Given the description of an element on the screen output the (x, y) to click on. 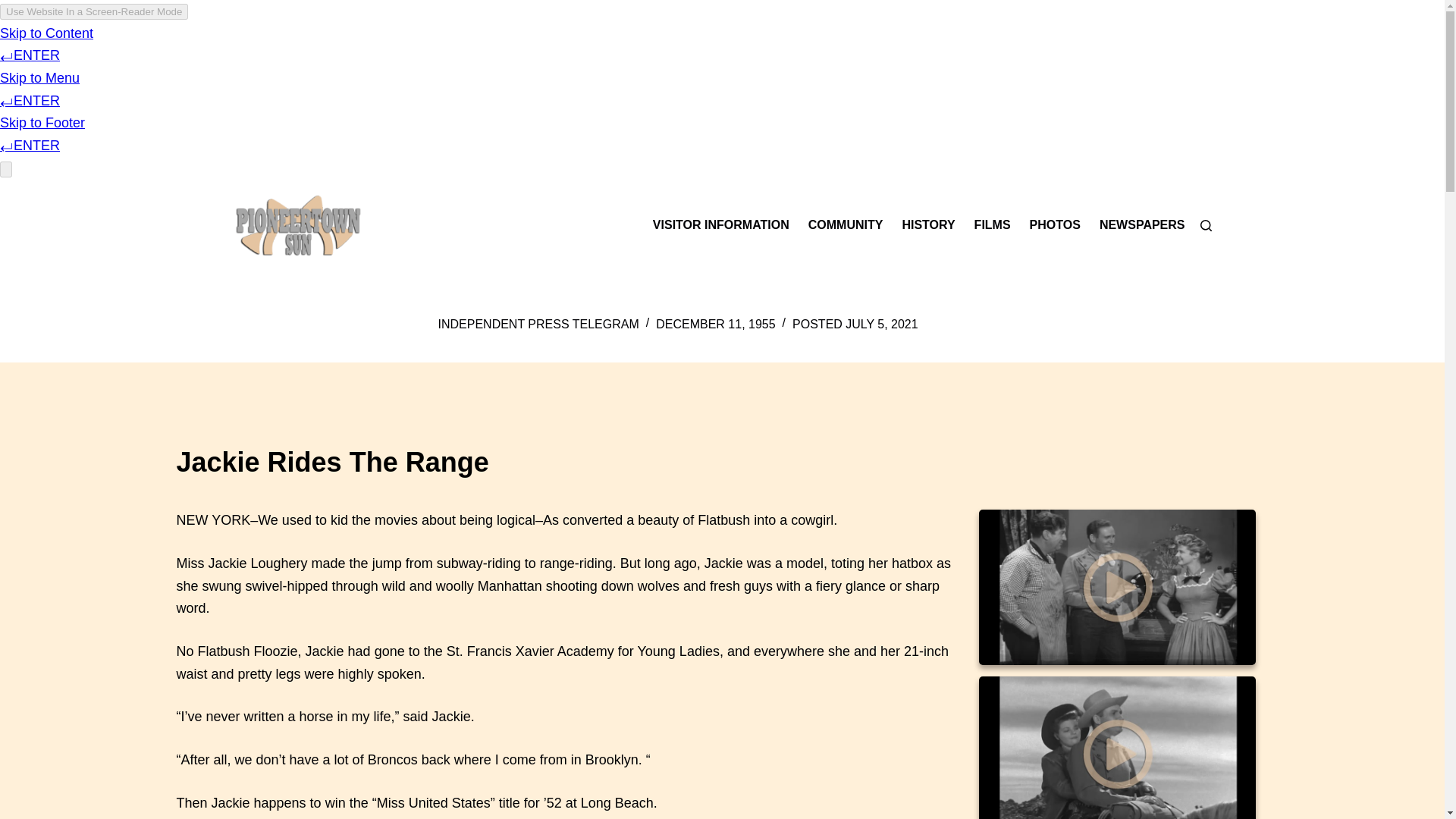
NEWSPAPERS (1137, 225)
Skip to content (15, 7)
Posts by Independent Press Telegram (538, 323)
VISITOR INFORMATION (724, 225)
Winning of the West (1116, 587)
COMMUNITY (844, 225)
Silver Canyon (1116, 747)
INDEPENDENT PRESS TELEGRAM (538, 323)
